Given the description of an element on the screen output the (x, y) to click on. 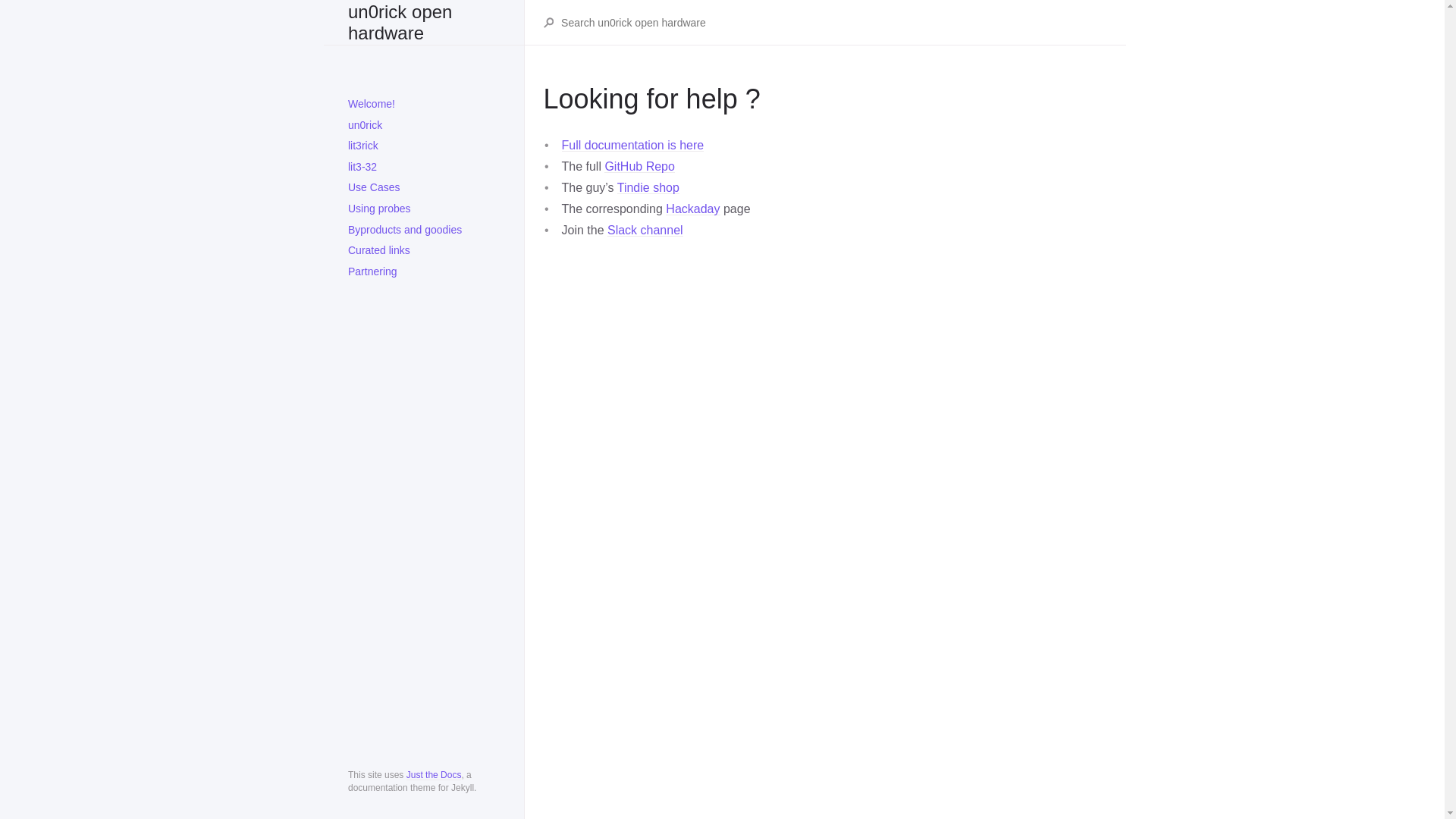
lit3rick Element type: text (423, 145)
Tindie shop Element type: text (648, 187)
Partnering Element type: text (423, 271)
GitHub Repo Element type: text (639, 166)
Curated links Element type: text (423, 250)
un0rick Element type: text (423, 125)
Slack channel Element type: text (645, 229)
Hackaday Element type: text (692, 208)
Use Cases Element type: text (423, 187)
lit3-32 Element type: text (423, 167)
un0rick open hardware Element type: text (423, 22)
Just the Docs Element type: text (433, 774)
Full documentation is here Element type: text (632, 144)
Using probes Element type: text (423, 208)
Welcome! Element type: text (423, 104)
Byproducts and goodies Element type: text (423, 230)
